Given the description of an element on the screen output the (x, y) to click on. 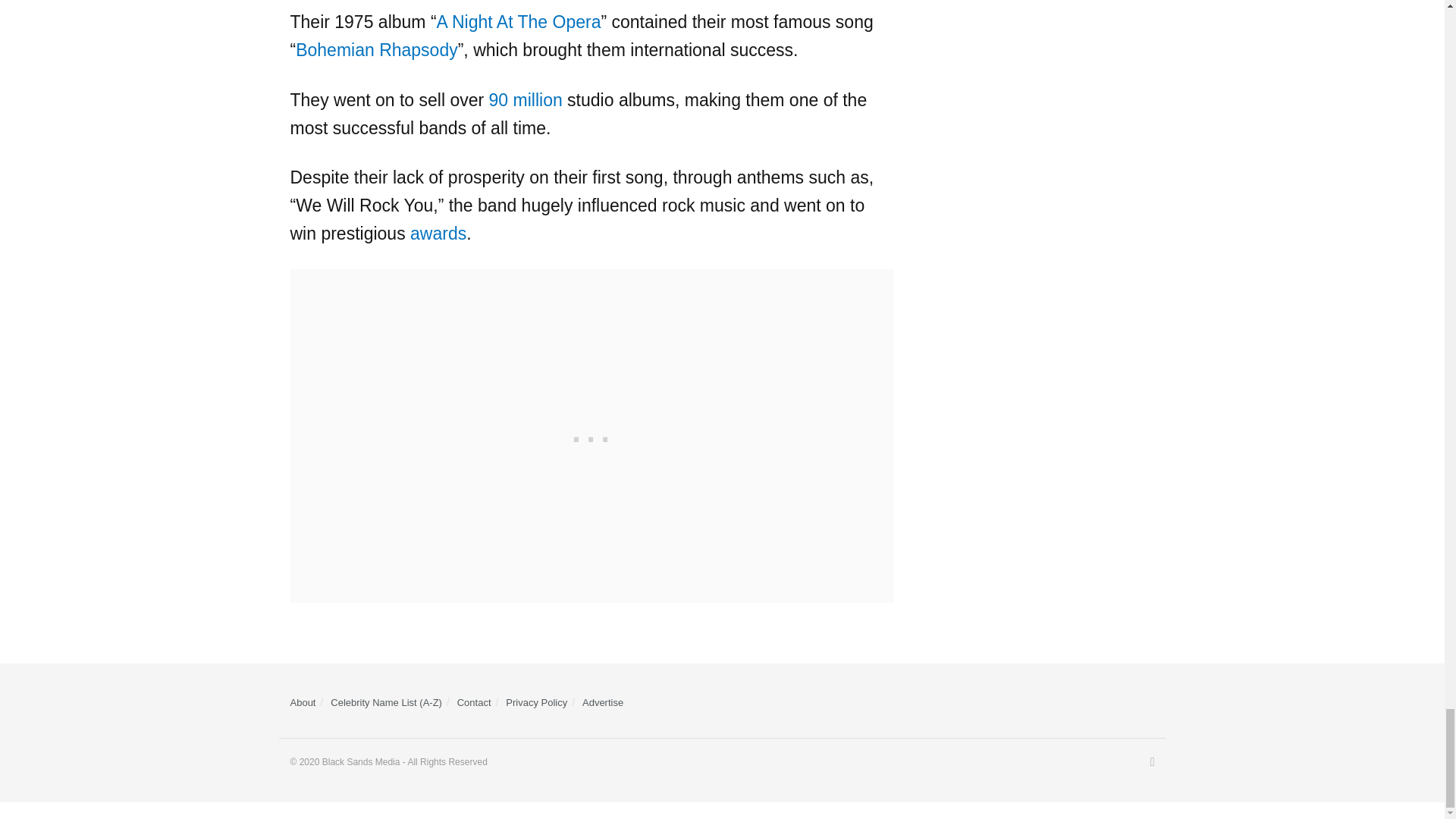
About (302, 702)
A Night At The Opera (518, 21)
awards (437, 233)
Advertise (602, 702)
90 million (525, 99)
Contact (474, 702)
Bohemian Rhapsody (376, 49)
Privacy Policy (536, 702)
